Given the description of an element on the screen output the (x, y) to click on. 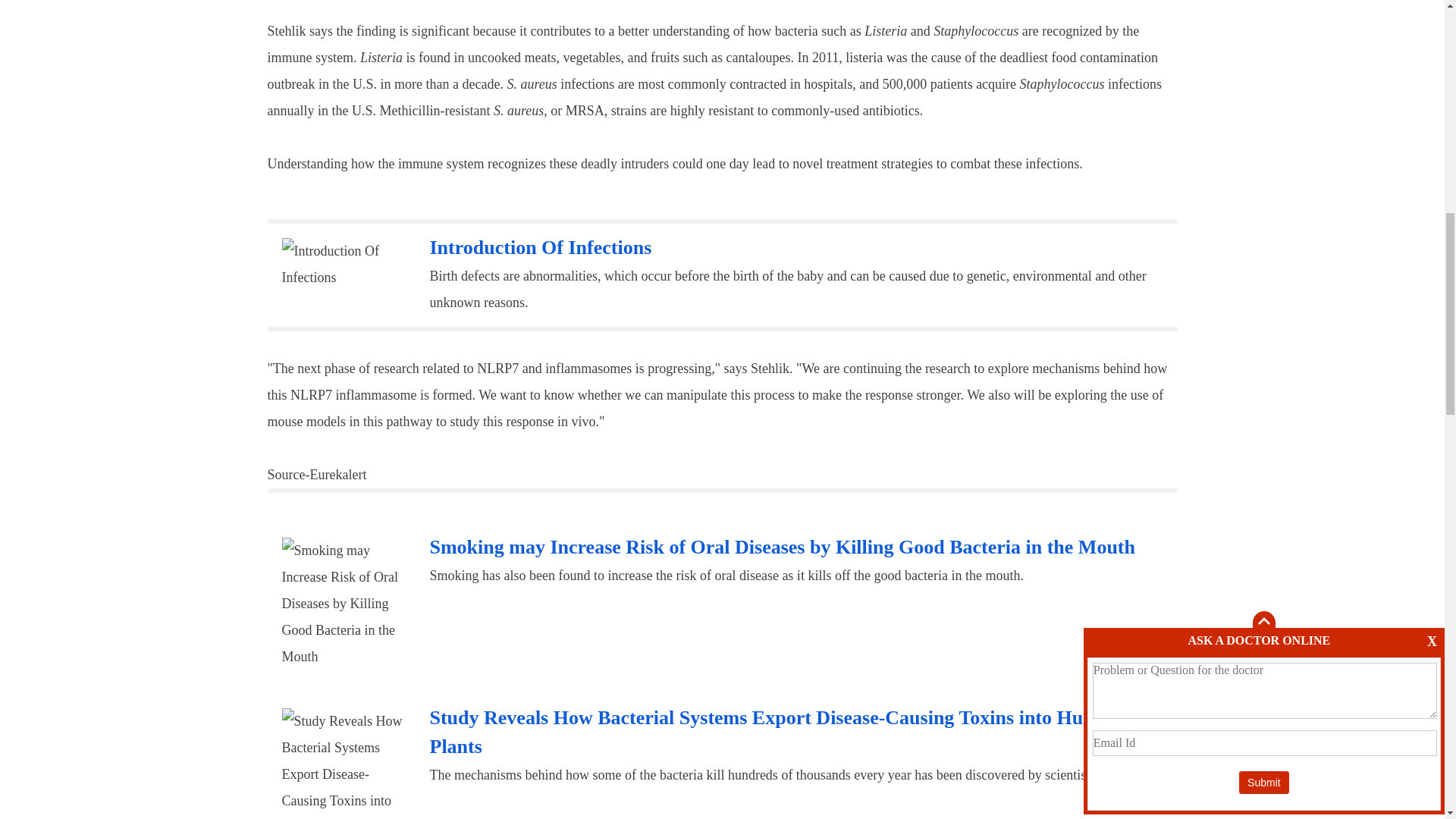
Introduction Of Infections (539, 247)
Introduction Of Infections (344, 264)
